Given the description of an element on the screen output the (x, y) to click on. 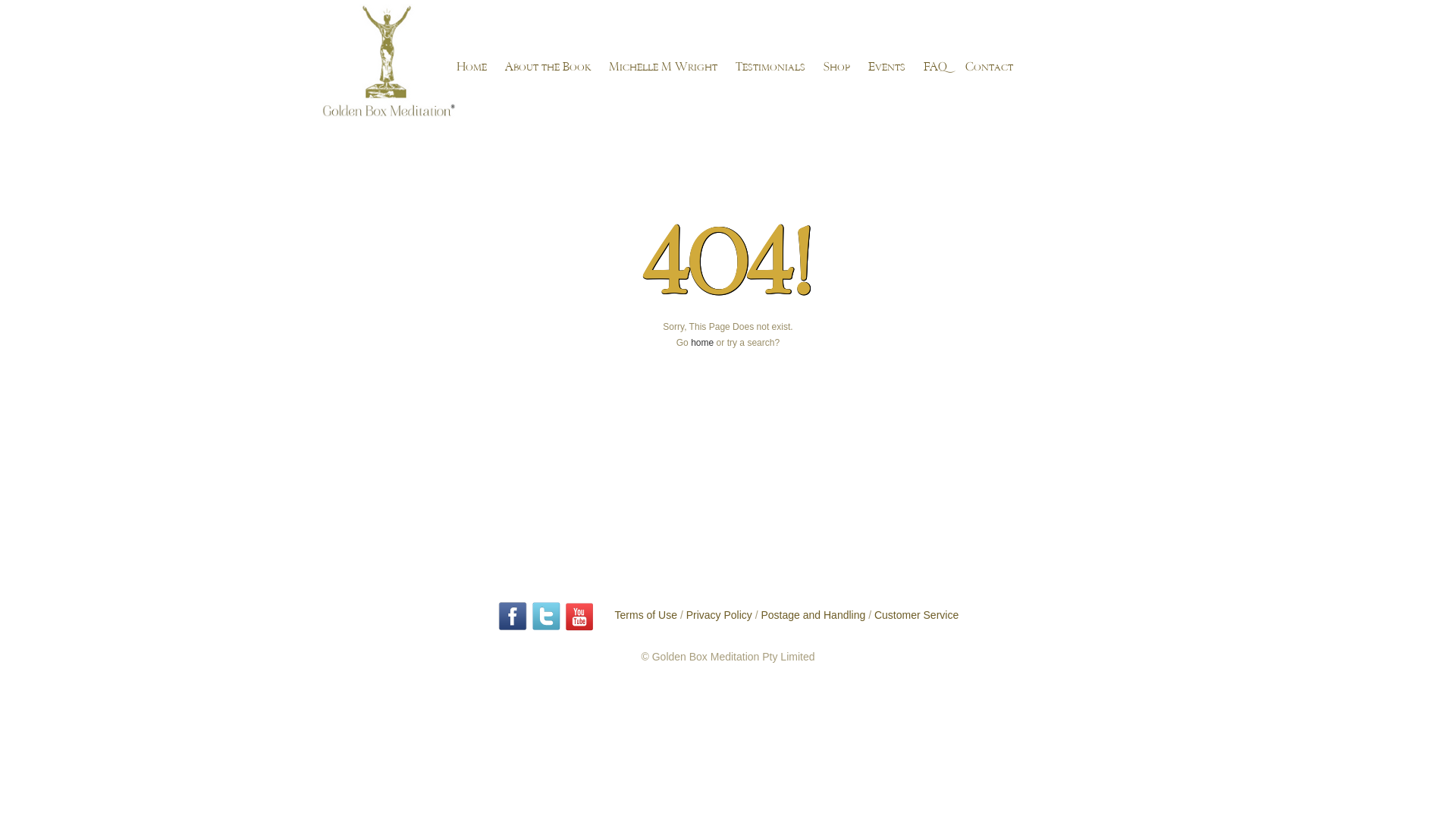
Contact Element type: text (989, 67)
Testimonials Element type: text (770, 67)
Shop Element type: text (836, 67)
About the Book Element type: text (547, 67)
Terms of Use Element type: text (646, 615)
FAQ Element type: text (935, 67)
Michelle M Wright Element type: text (662, 67)
Privacy Policy Element type: text (719, 615)
Events Element type: text (886, 67)
Customer Service Element type: text (916, 615)
home Element type: text (701, 342)
Postage and Handling Element type: text (813, 615)
Home Element type: text (471, 67)
